Given the description of an element on the screen output the (x, y) to click on. 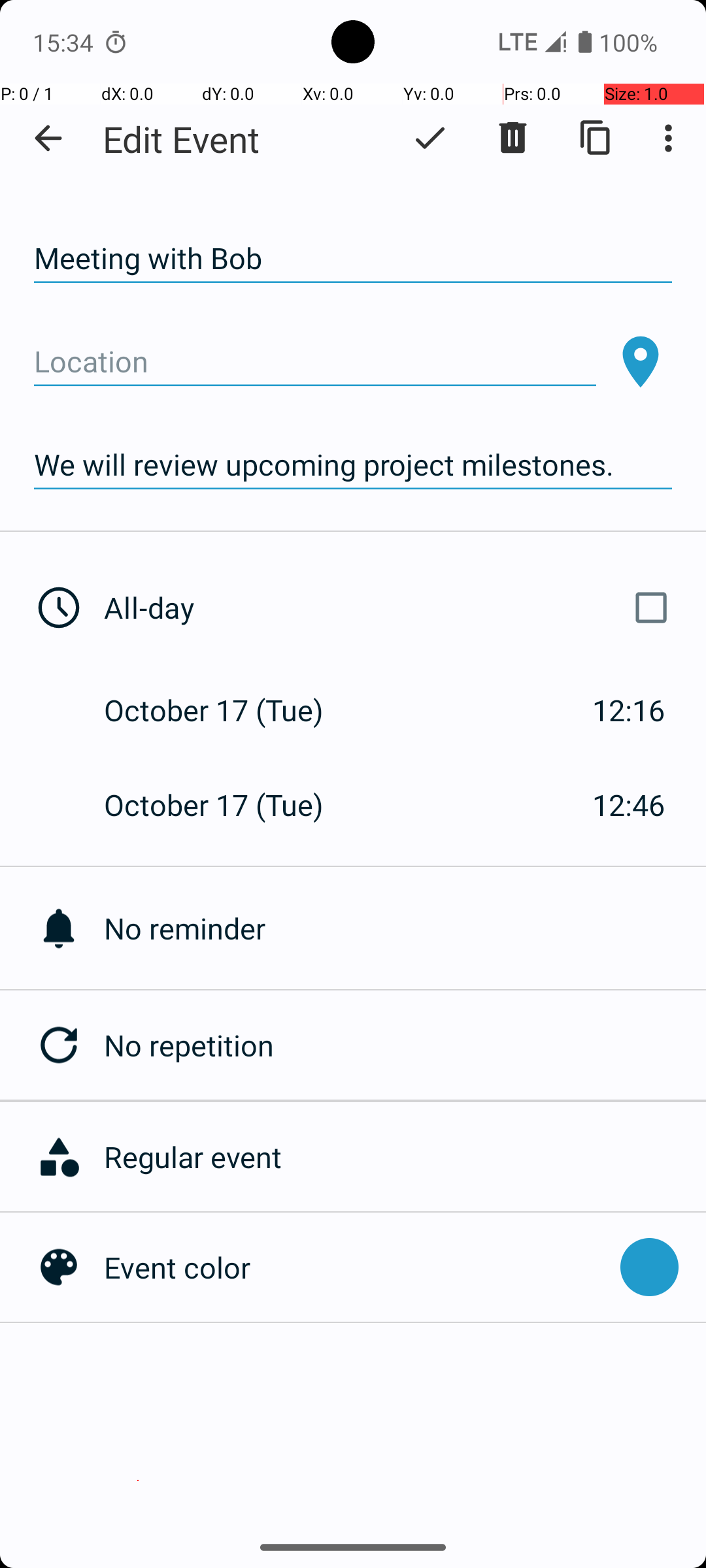
We will review upcoming project milestones. Element type: android.widget.EditText (352, 465)
October 17 (Tue) Element type: android.widget.TextView (227, 709)
12:16 Element type: android.widget.TextView (628, 709)
12:46 Element type: android.widget.TextView (628, 804)
